Given the description of an element on the screen output the (x, y) to click on. 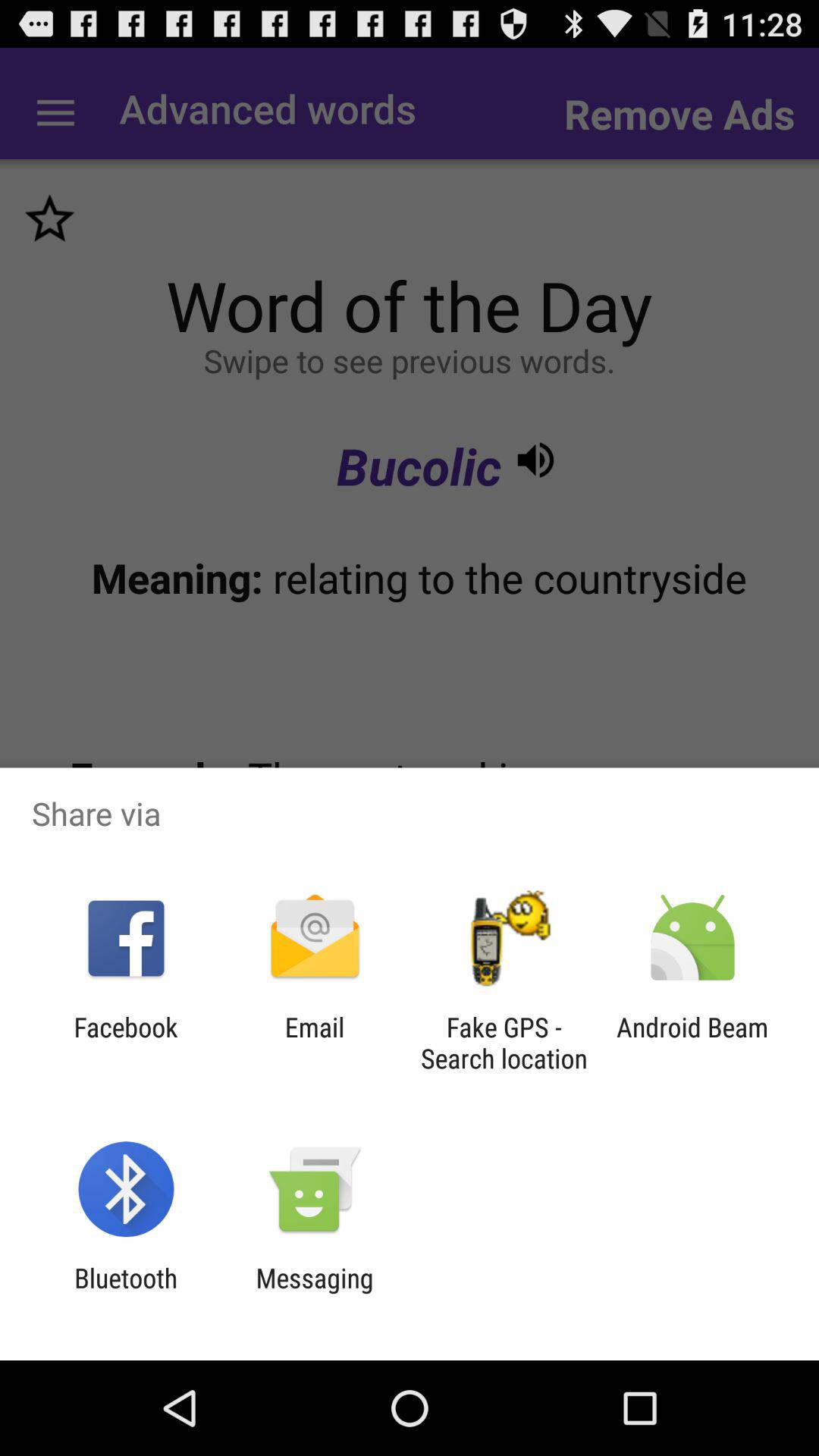
choose item at the bottom right corner (692, 1042)
